Given the description of an element on the screen output the (x, y) to click on. 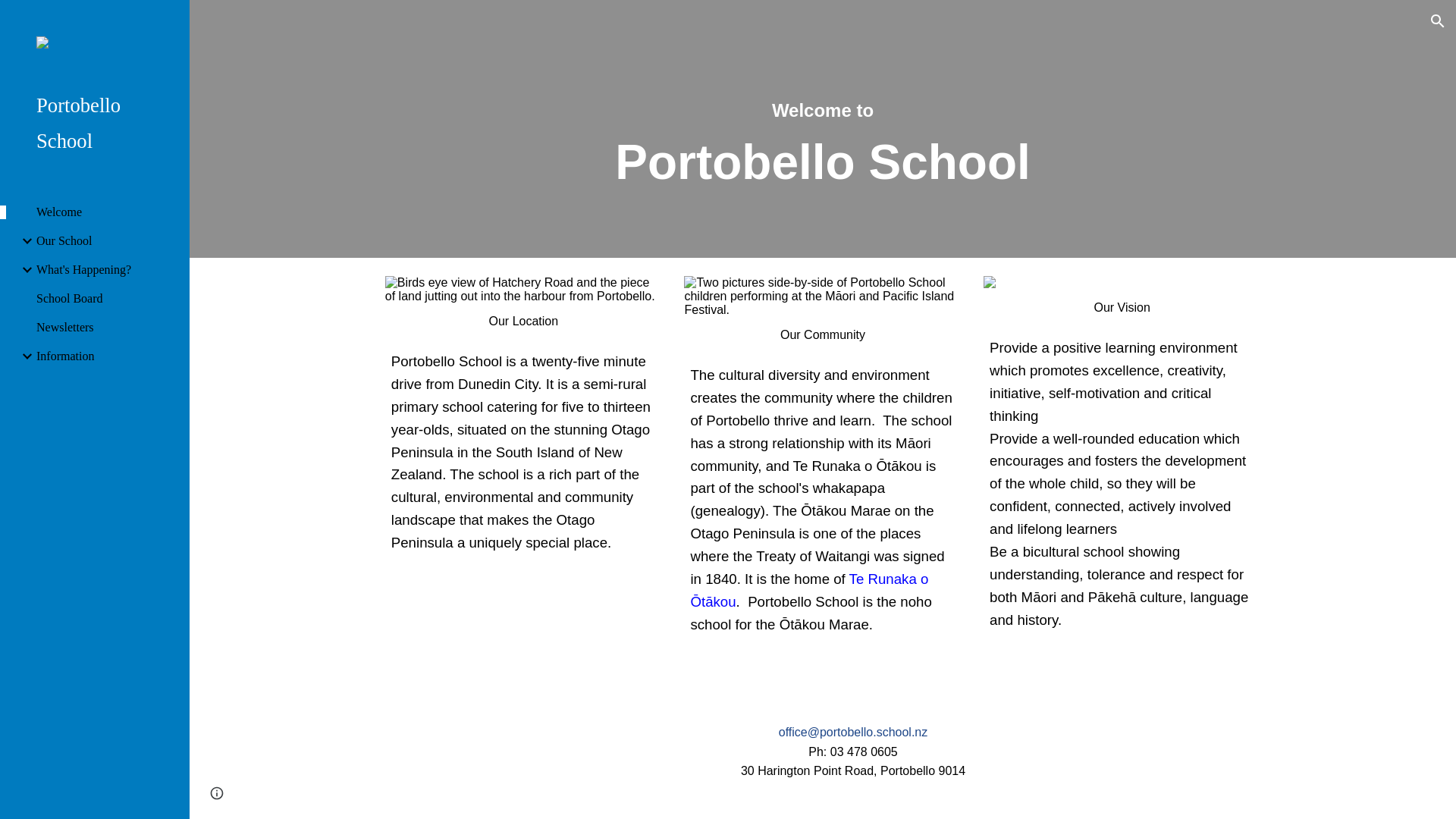
Information (106, 356)
Portobello School (100, 122)
Our School (106, 241)
What's Happening? (106, 269)
School Board (106, 298)
Welcome (106, 212)
Newsletters (106, 327)
